Given the description of an element on the screen output the (x, y) to click on. 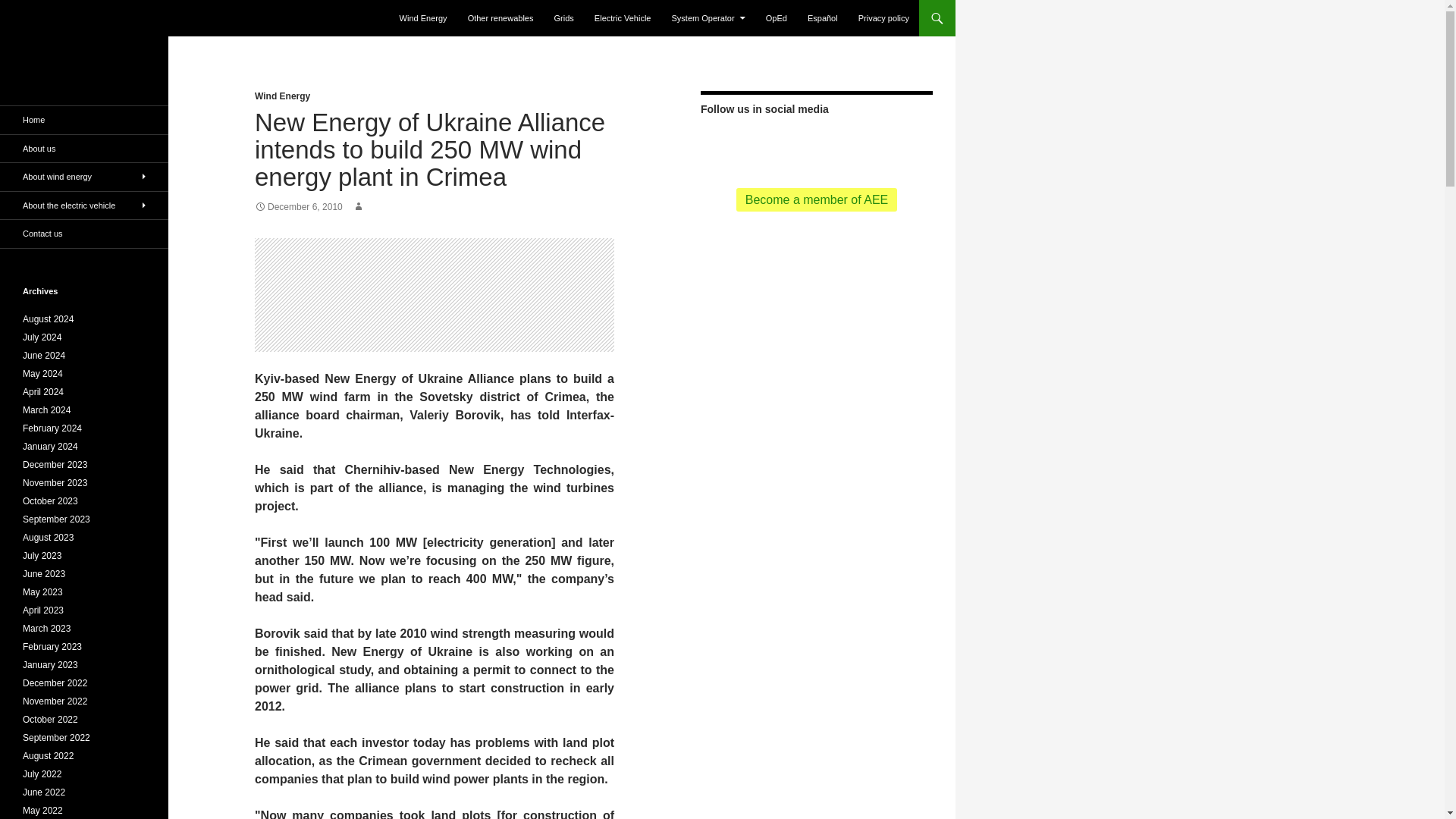
LinkedIn (865, 143)
Other renewables (500, 18)
youtube (792, 143)
Electric Vehicle (623, 18)
December 6, 2010 (298, 206)
facebook (767, 143)
Wind Energy (423, 18)
Become a member of AEE (817, 199)
Tiktok (840, 143)
System Operator (708, 18)
